Given the description of an element on the screen output the (x, y) to click on. 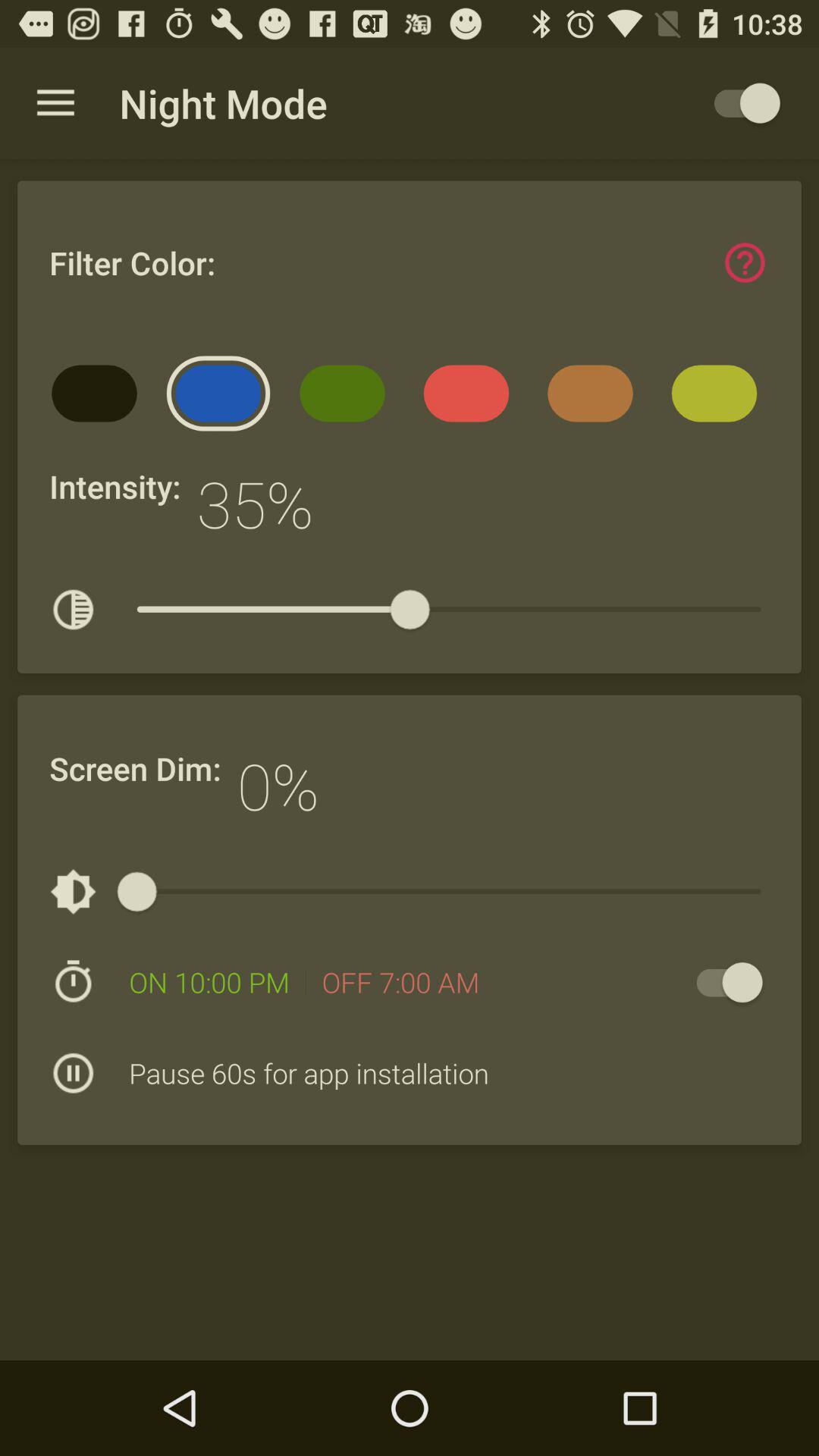
tap the item next to off 7 00 (722, 982)
